Given the description of an element on the screen output the (x, y) to click on. 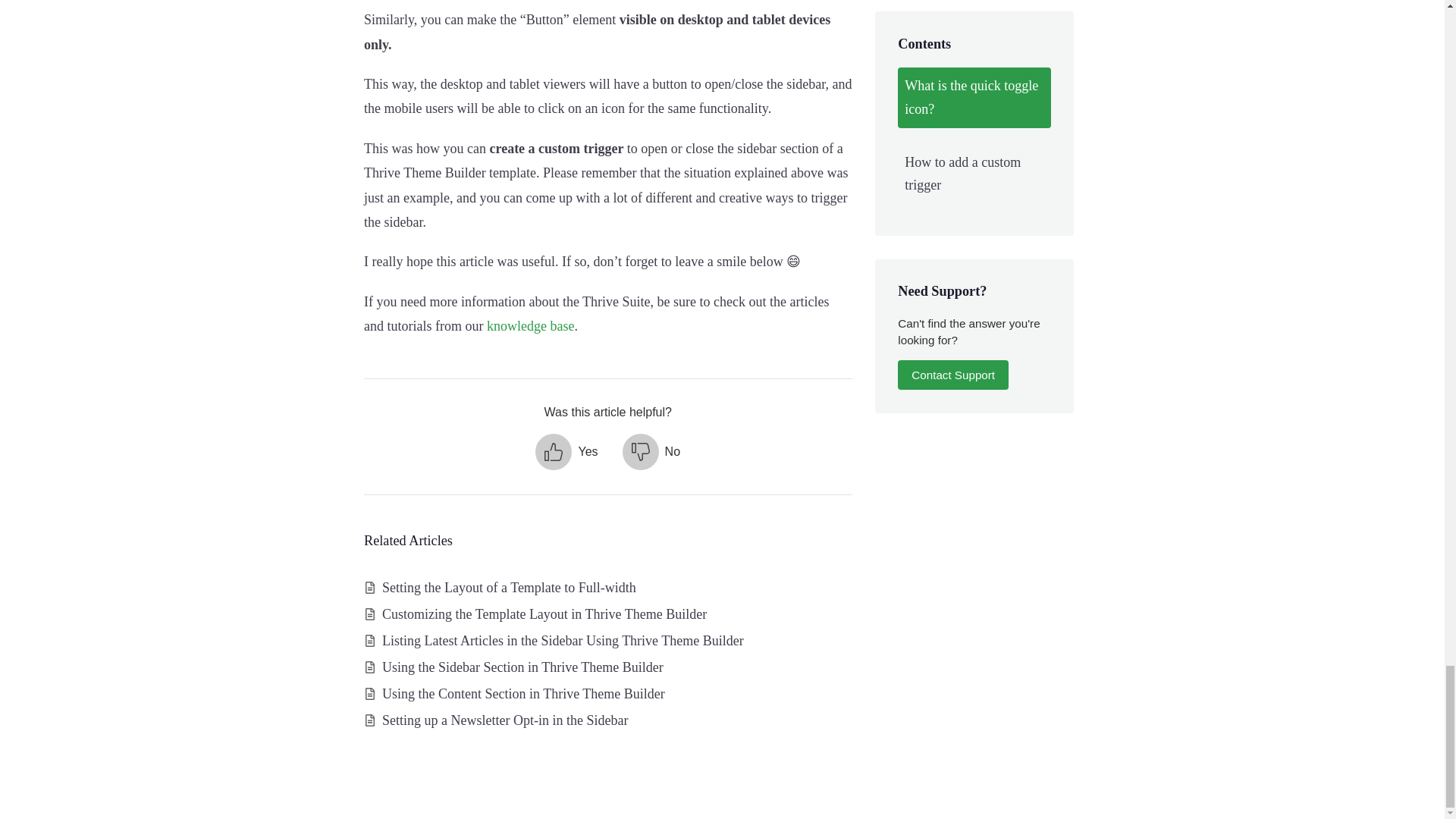
Setting up a Newsletter Opt-in in the Sidebar (504, 720)
Yes (565, 452)
knowledge base (529, 325)
Using the Sidebar Section in Thrive Theme Builder (522, 667)
Using the Content Section in Thrive Theme Builder (523, 693)
Customizing the Template Layout in Thrive Theme Builder (543, 613)
Setting the Layout of a Template to Full-width (508, 587)
No (651, 452)
